Given the description of an element on the screen output the (x, y) to click on. 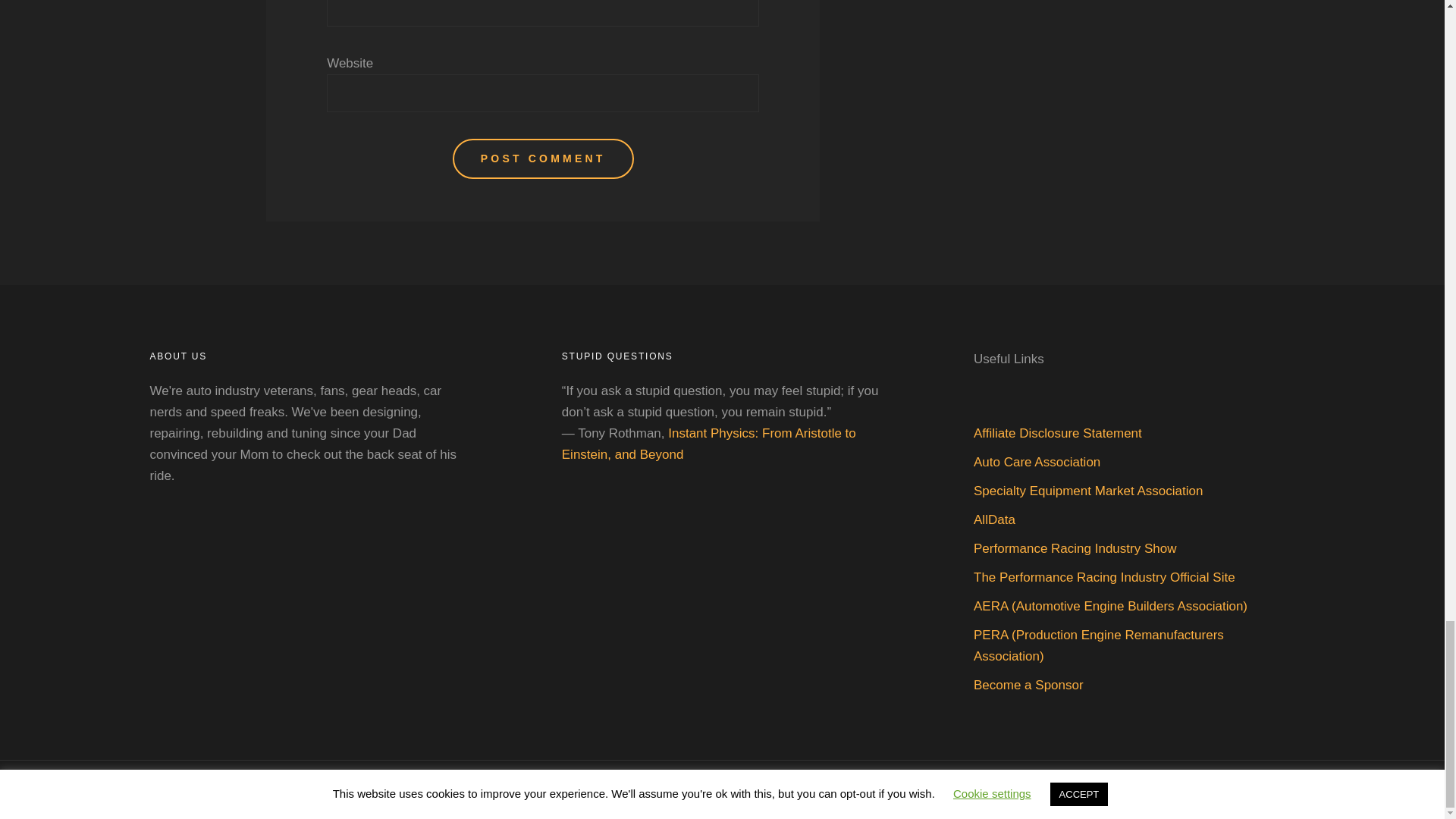
AllData (994, 519)
Specialty Equipment Market Association (1088, 490)
The Performance Racing Industry Official Site (1104, 577)
Performance Racing Industry Show (1075, 548)
Affiliate Disclosure Statement (1057, 432)
Post Comment (542, 158)
Post Comment (542, 158)
Instant Physics: From Aristotle to Einstein, and Beyond (709, 443)
Auto Care Association (1037, 462)
